Given the description of an element on the screen output the (x, y) to click on. 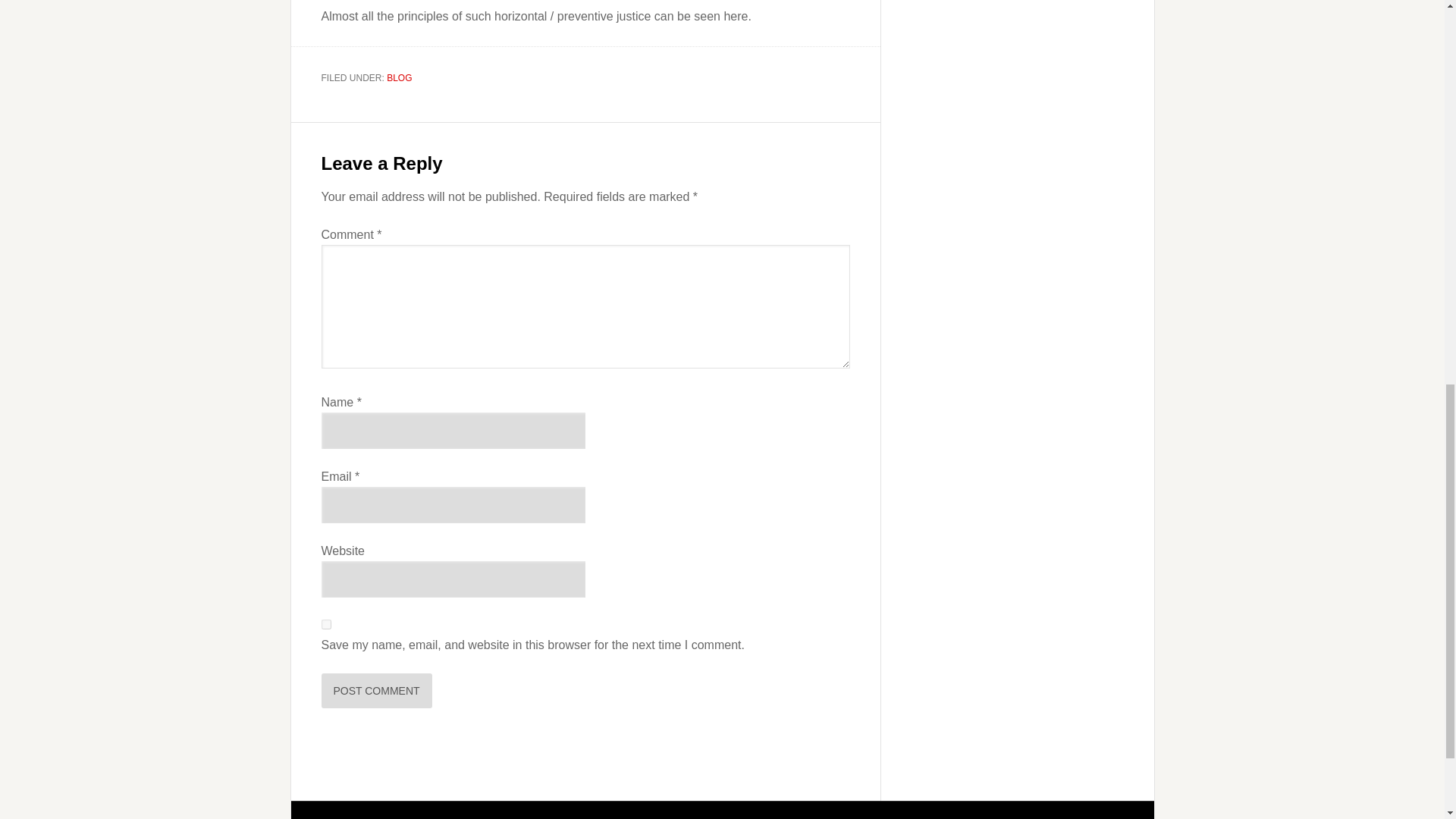
Post Comment (376, 690)
yes (326, 624)
Post Comment (376, 690)
BLOG (399, 77)
